Given the description of an element on the screen output the (x, y) to click on. 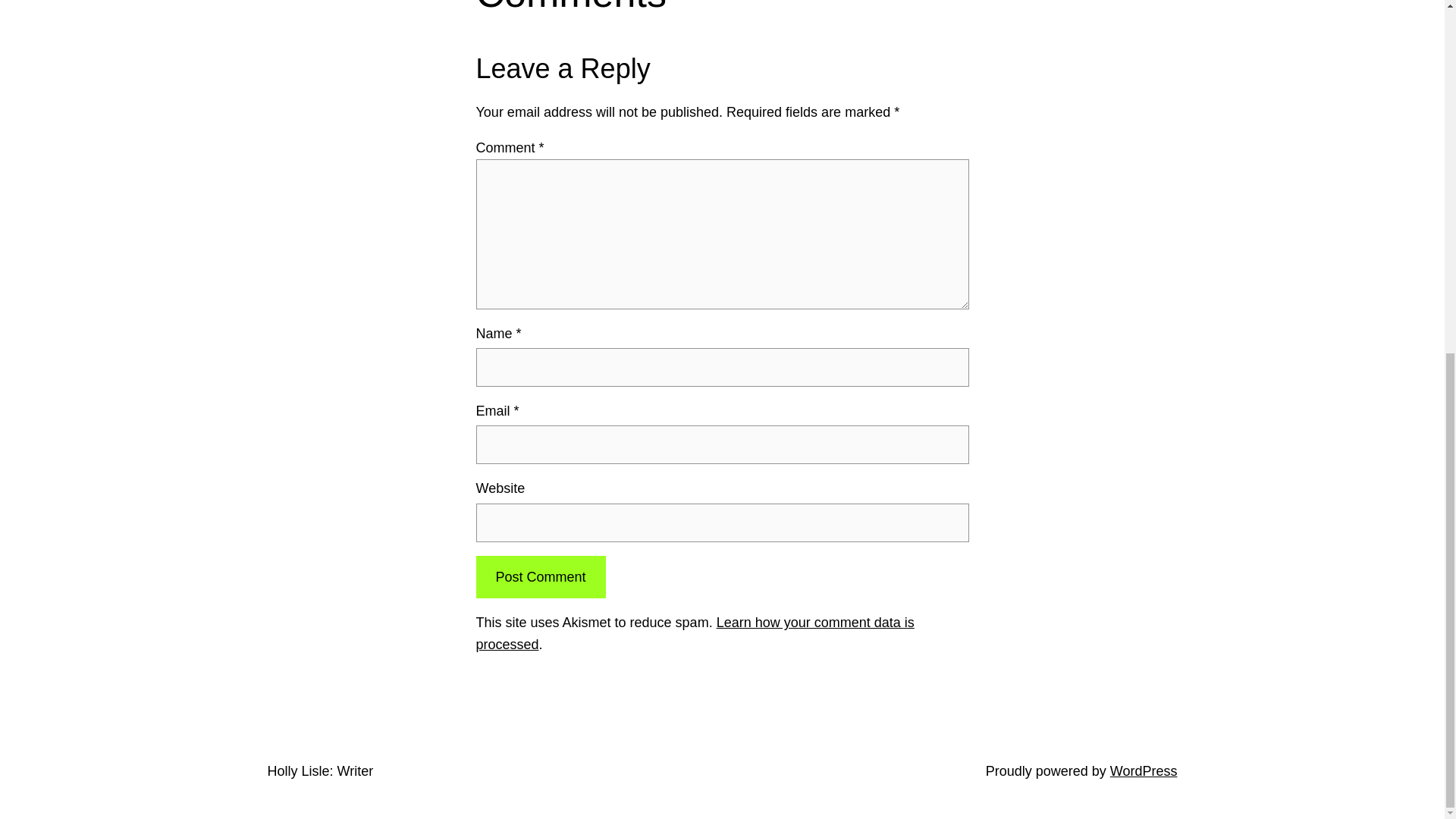
Holly Lisle: Writer (319, 770)
Learn how your comment data is processed (695, 633)
WordPress (1143, 770)
Post Comment (540, 577)
Post Comment (540, 577)
